Given the description of an element on the screen output the (x, y) to click on. 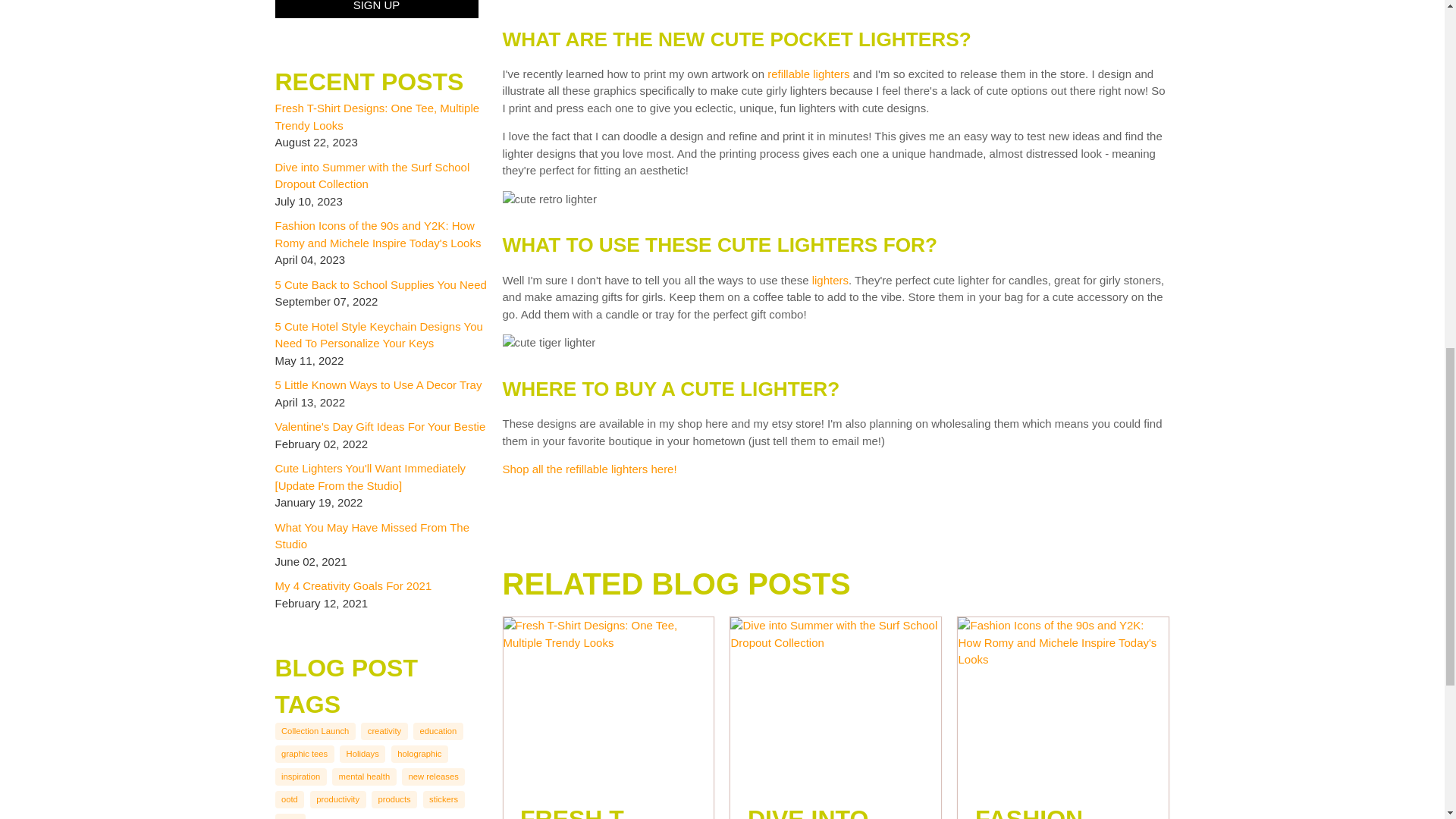
Lifestyle tagged education (438, 730)
Dive into Summer with the Surf School Dropout Collection (371, 175)
5 Little Known Ways to Use A Decor Tray (378, 384)
5 Cute Back to School Supplies You Need (380, 284)
What You May Have Missed From The Studio (371, 535)
Lifestyle tagged Collection Launch (315, 730)
My 4 Creativity Goals For 2021 (352, 585)
Valentine's Day Gift Ideas For Your Bestie (379, 426)
